Given the description of an element on the screen output the (x, y) to click on. 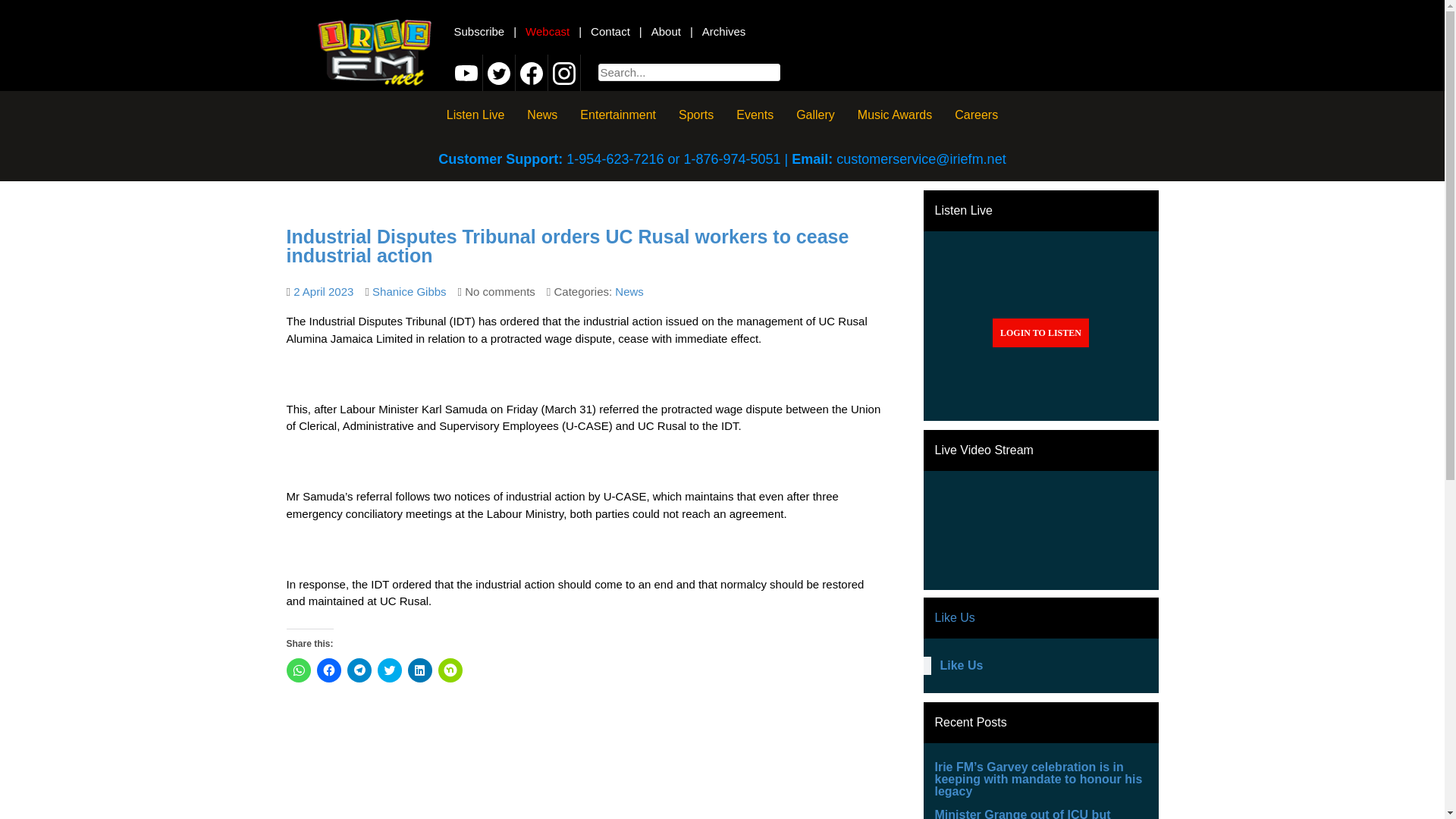
Click to share on WhatsApp (298, 670)
LOGIN TO LISTEN (1040, 332)
Click to share on Telegram (359, 670)
Shanice Gibbs (409, 291)
Like Us (962, 665)
Careers (976, 114)
Click to share on Twitter (389, 670)
Gallery (814, 114)
Entertainment (617, 114)
